Given the description of an element on the screen output the (x, y) to click on. 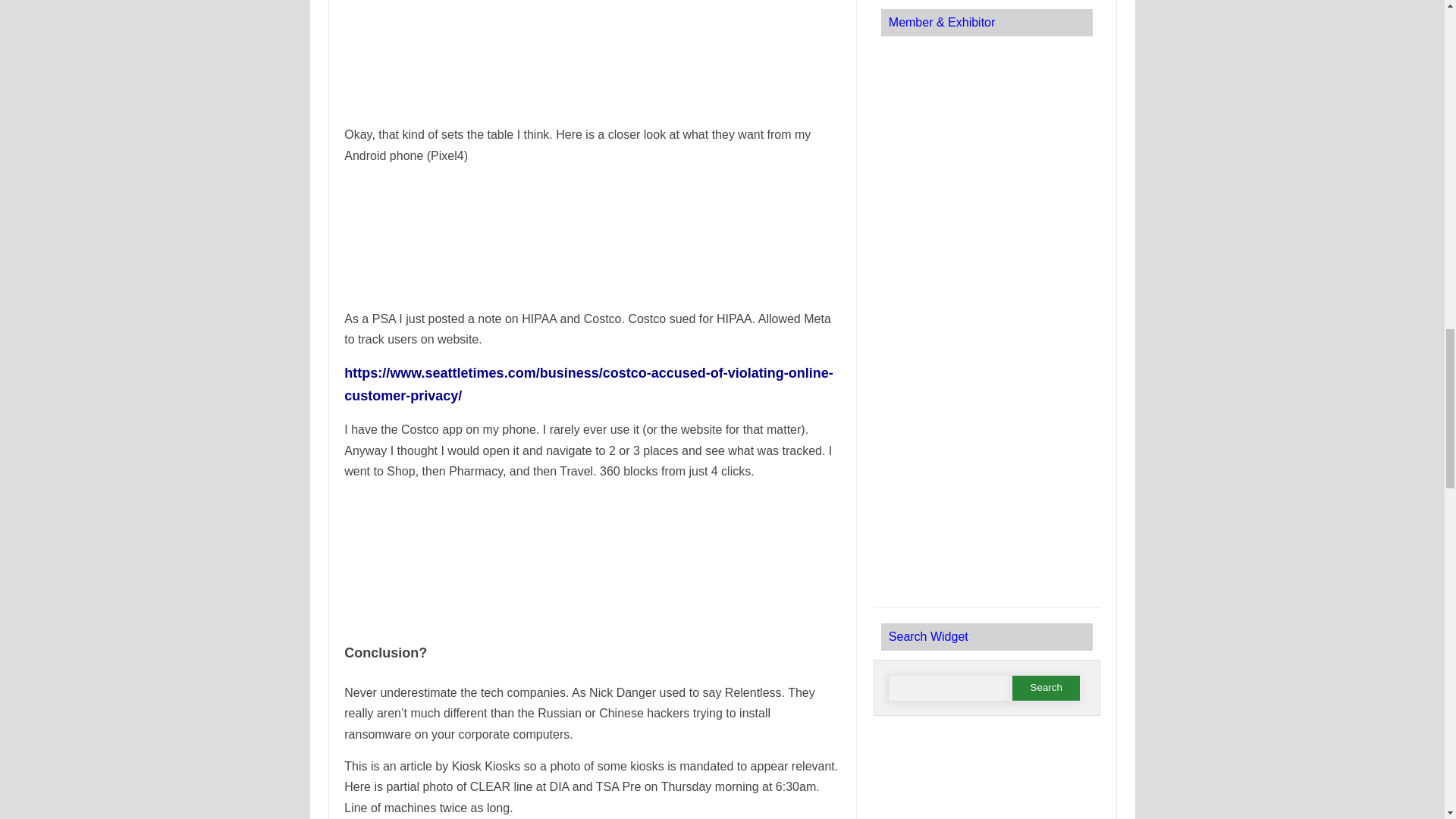
Search (1045, 687)
National Restaurant Association Trade Show (986, 187)
IAAPA Tradeshow kiosk (986, 294)
Healthcare kiosk HIMSS (986, 506)
Retail Kiosk NRF National Retail Federation (986, 91)
